Given the description of an element on the screen output the (x, y) to click on. 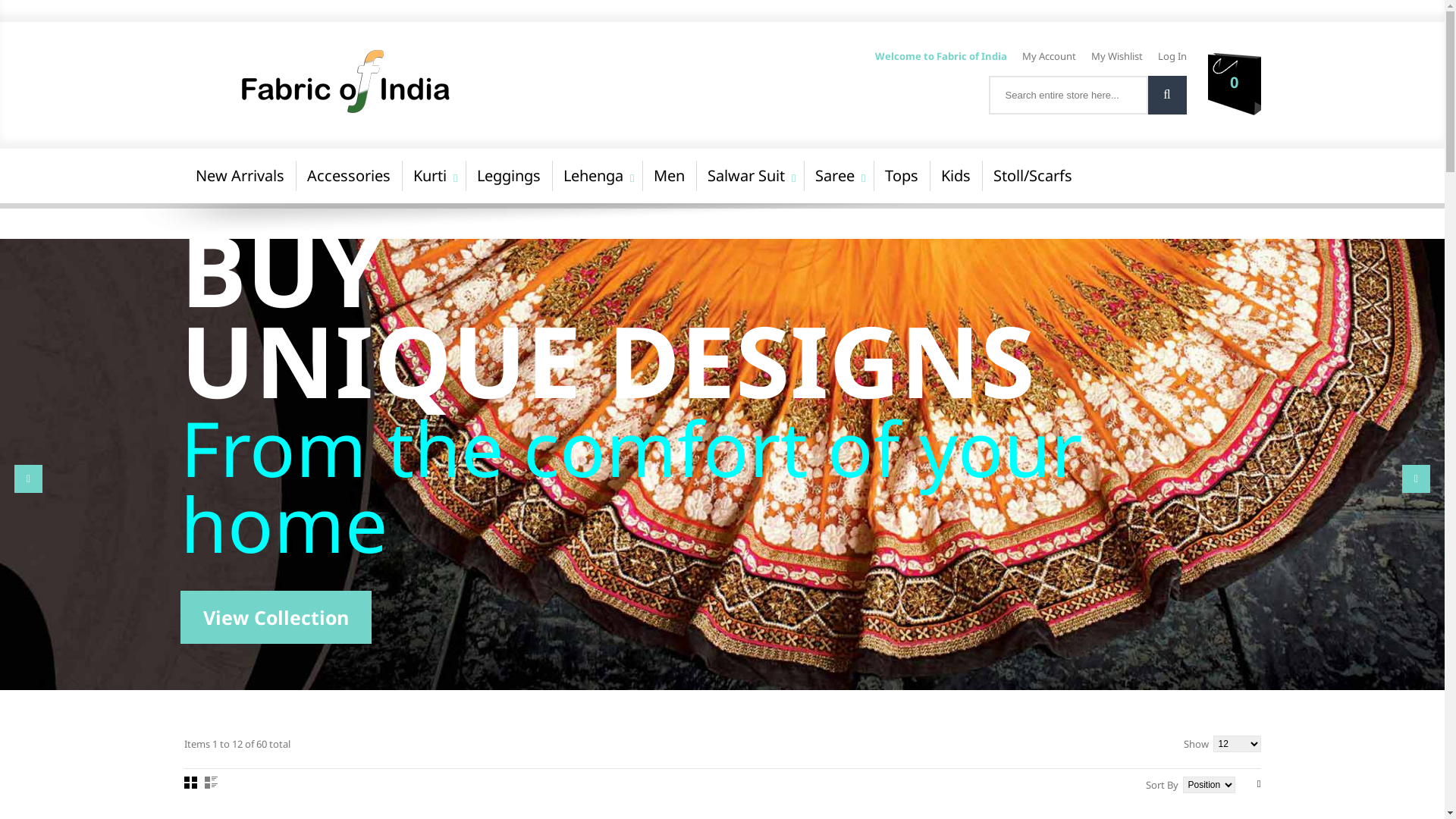
List Element type: text (210, 782)
Men Element type: text (668, 175)
Lehenga Element type: text (593, 175)
Tops Element type: text (901, 175)
Leggings Element type: text (508, 175)
Set Descending Direction Element type: hover (1259, 783)
View Collection Element type: text (275, 616)
Accessories Element type: text (348, 175)
Stoll/Scarfs Element type: text (1031, 175)
Saree Element type: text (834, 175)
My Account Element type: text (1049, 55)
Kids Element type: text (955, 175)
Search Element type: hover (1167, 94)
Log In Element type: text (1171, 55)
New Arrivals Element type: text (238, 175)
Salwar Suit Element type: text (746, 175)
Fabric Of India Element type: hover (429, 79)
My Wishlist Element type: text (1116, 55)
Kurti Element type: text (429, 175)
